Given the description of an element on the screen output the (x, y) to click on. 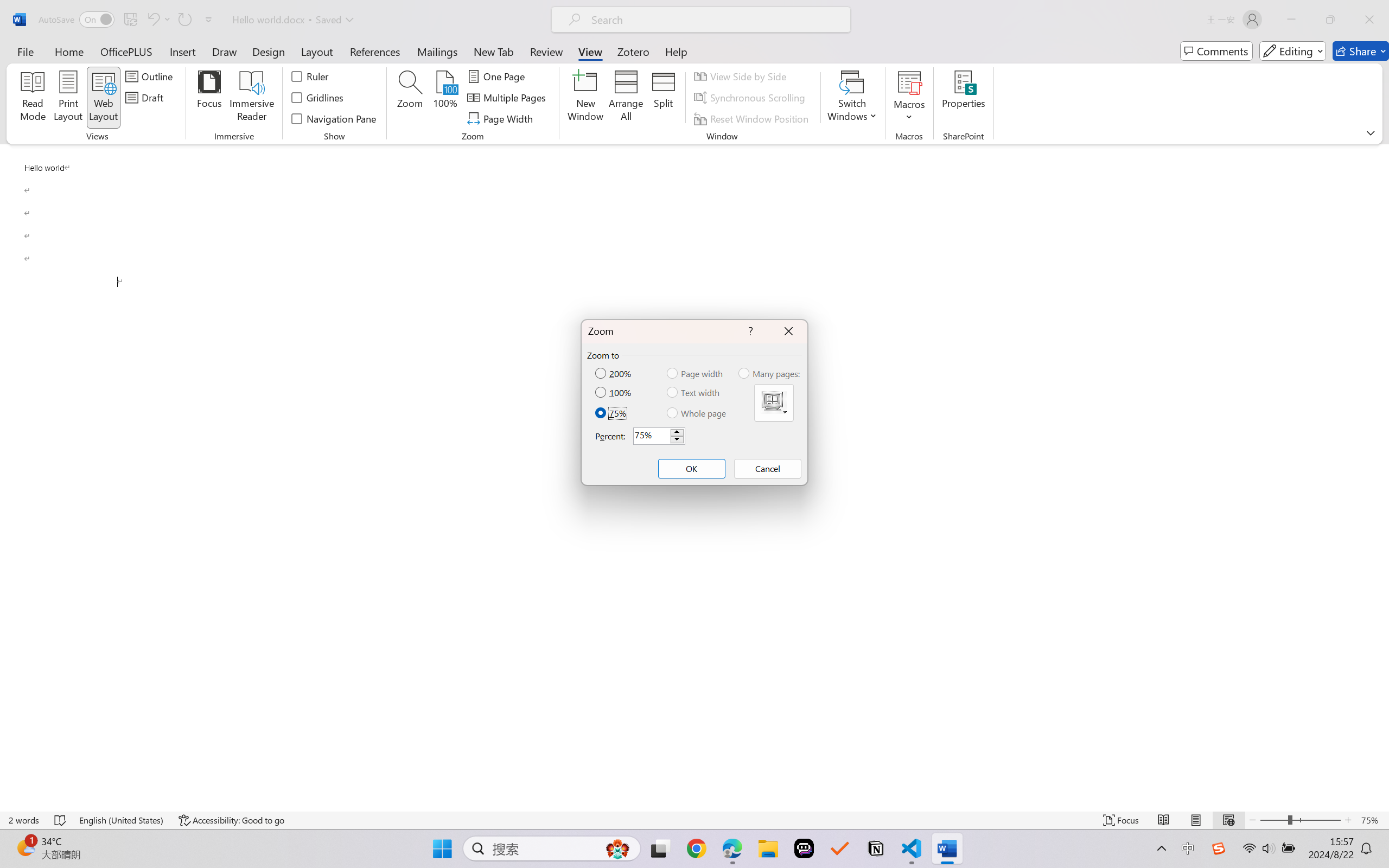
Class: Image (1218, 847)
More Options (909, 112)
Accessibility Checker Accessibility: Good to go (231, 819)
Split (663, 97)
Zoom In (1348, 819)
File Tab (24, 51)
Navigation Pane (334, 118)
Ribbon Display Options (1370, 132)
Whole page (696, 412)
View Side by Side (741, 75)
New Tab (493, 51)
